Given the description of an element on the screen output the (x, y) to click on. 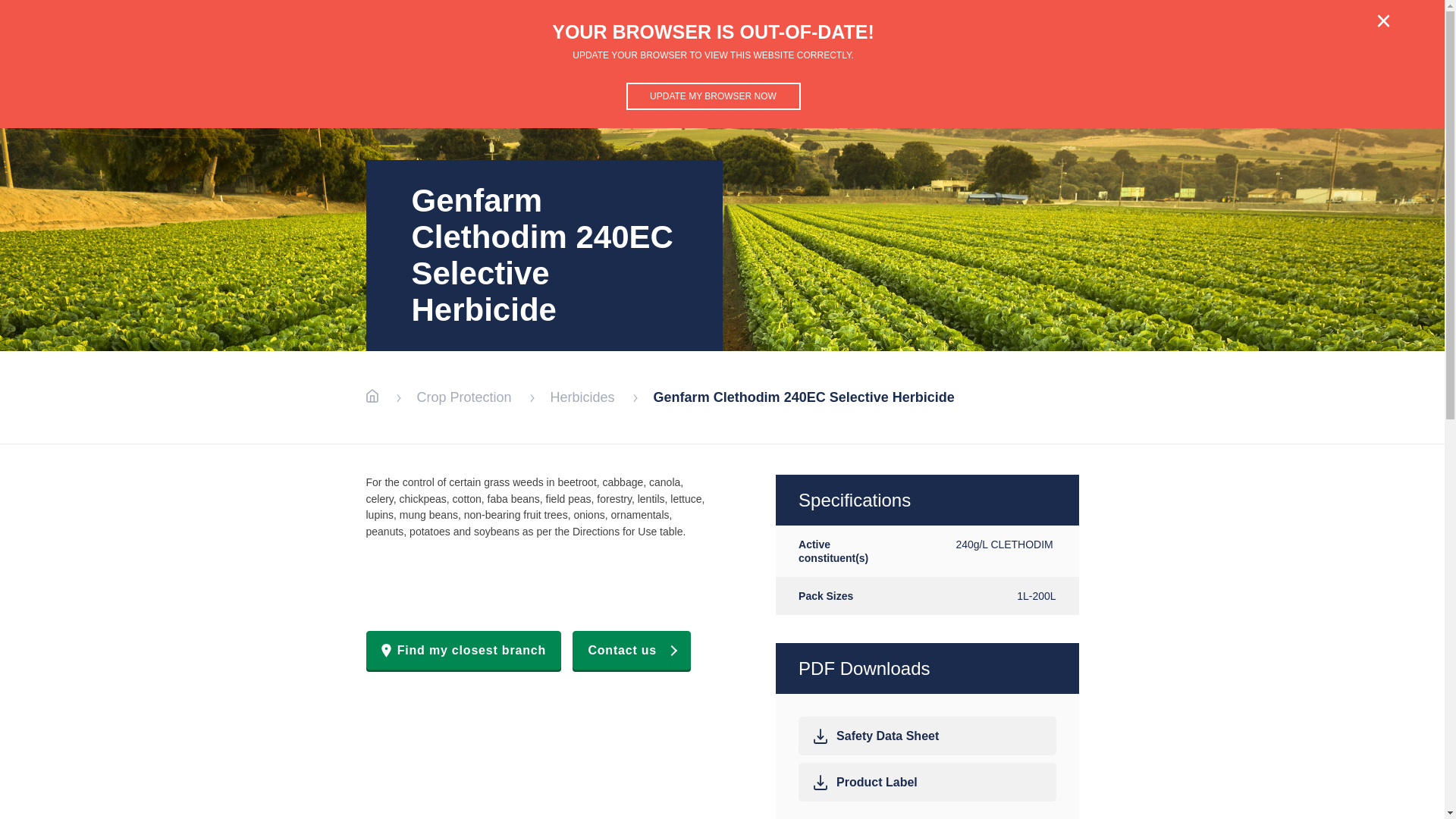
Product Label Element type: text (926, 781)
Safety Data Sheet Element type: text (926, 735)
Search Element type: text (1329, 37)
Contact us Element type: text (631, 649)
Crop Protection Element type: text (464, 397)
Find my closest branch Element type: text (463, 649)
Contact Us Element type: text (1255, 37)
About Element type: text (1184, 37)
Crop Protection Element type: text (1086, 37)
UPDATE MY BROWSER NOW Element type: text (713, 95)
Herbicides Element type: text (582, 397)
Genfarm Clethodim 240EC Selective Herbicide Element type: text (803, 397)
